Given the description of an element on the screen output the (x, y) to click on. 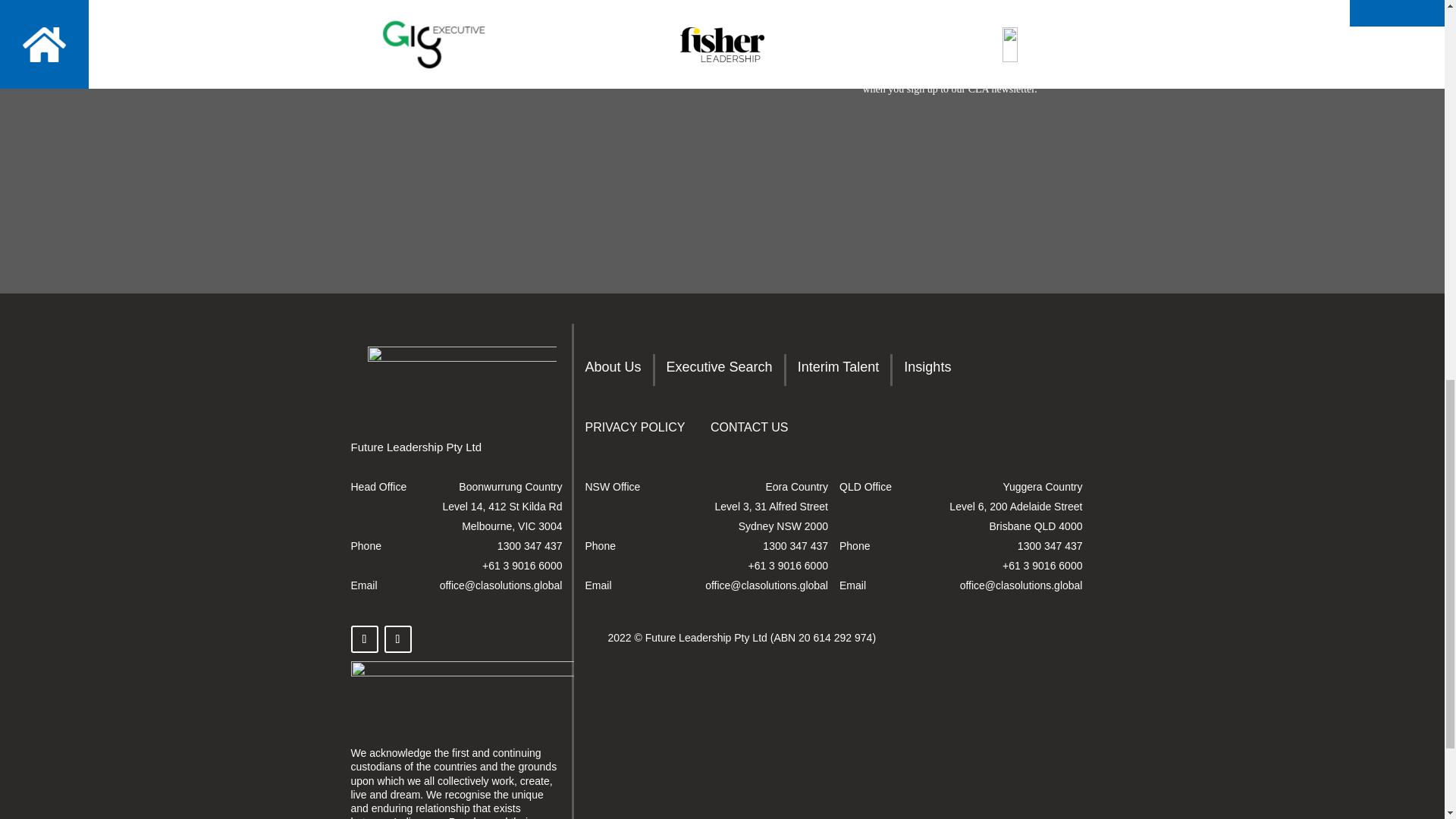
Interim Talent (838, 369)
Follow on X (363, 638)
Executive Search (719, 369)
1300 347 437 (795, 545)
Insights (927, 369)
CONTACT US (749, 430)
1300 347 437 (529, 545)
Follow on LinkedIn (397, 638)
PRIVACY POLICY (635, 430)
Untitled design-3 (461, 688)
